Given the description of an element on the screen output the (x, y) to click on. 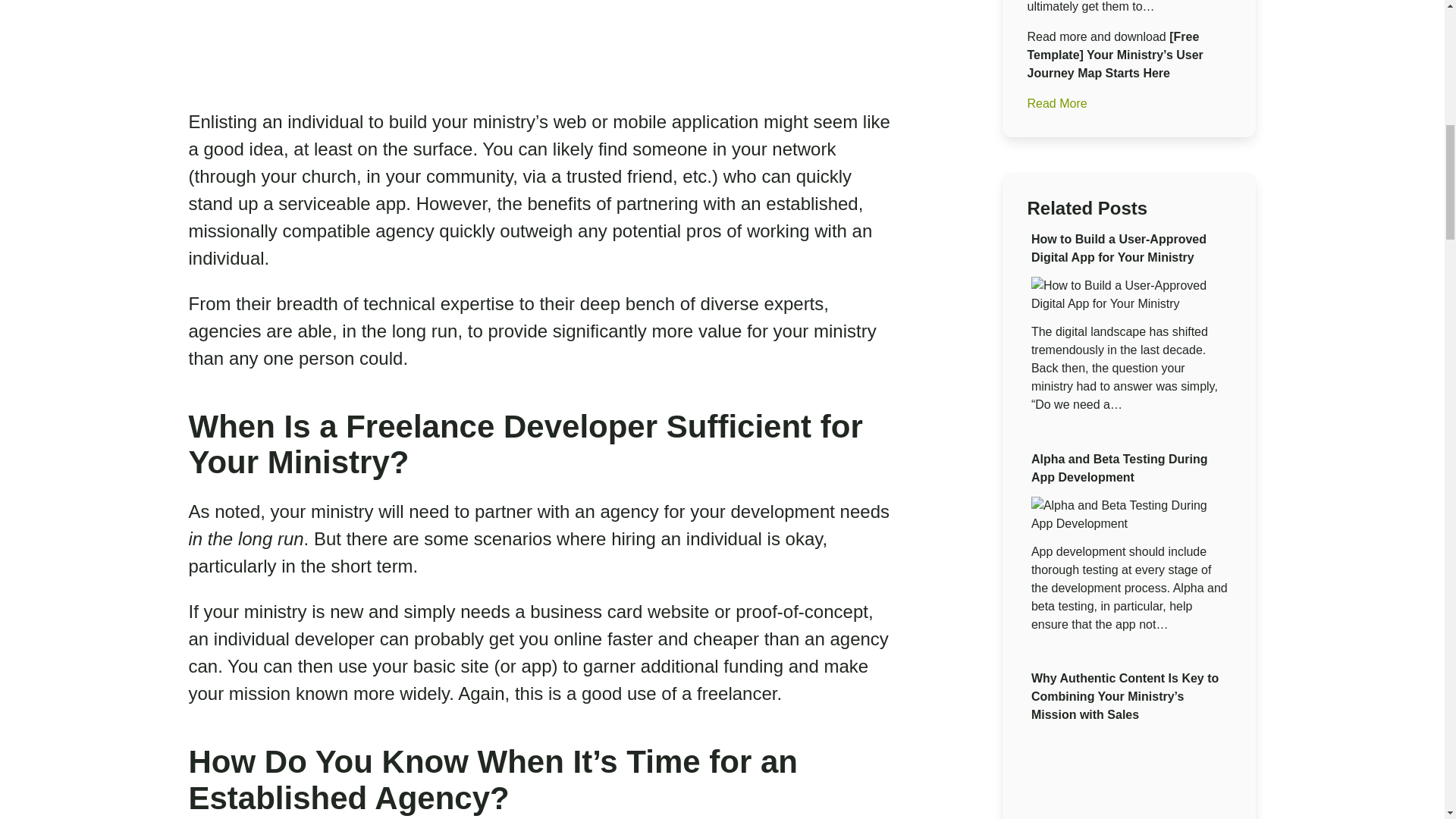
Alpha and Beta Testing During App Development (1119, 468)
Read More (1056, 103)
How to Build a User-Approved Digital App for Your Ministry (1118, 247)
